Given the description of an element on the screen output the (x, y) to click on. 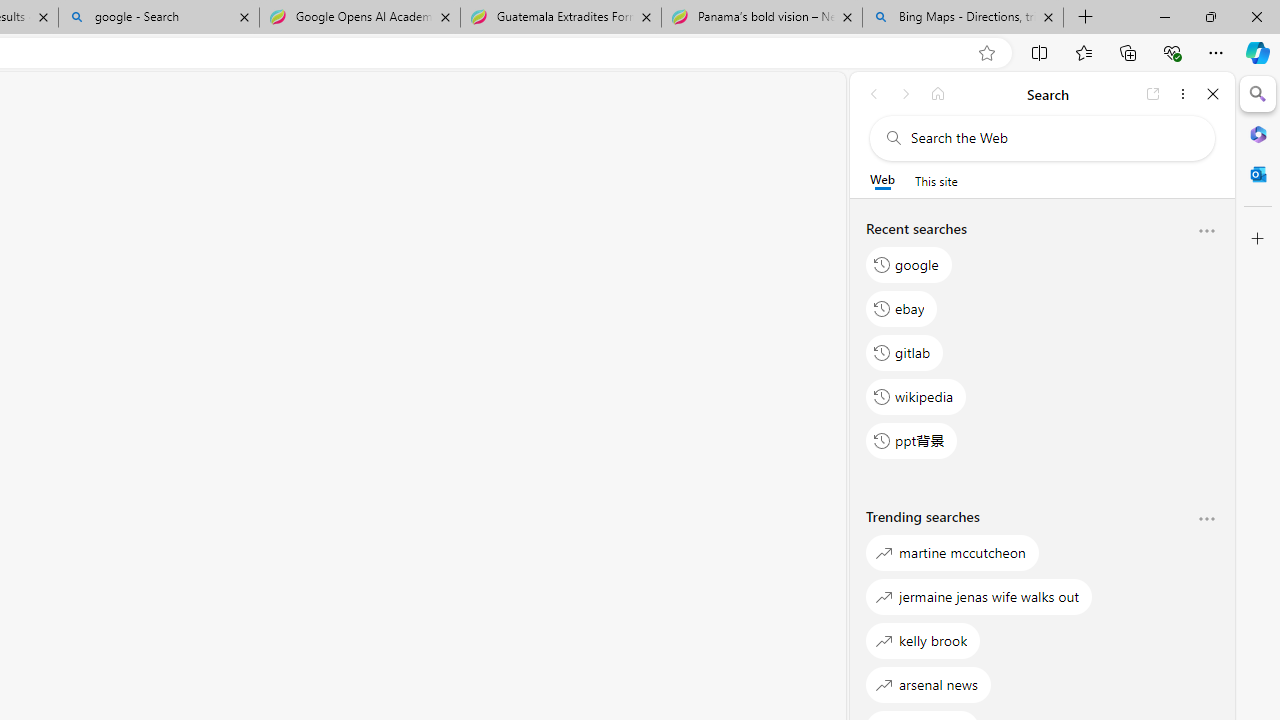
gitlab (905, 352)
martine mccutcheon (952, 552)
Google Opens AI Academy for Startups - Nearshore Americas (359, 17)
